Given the description of an element on the screen output the (x, y) to click on. 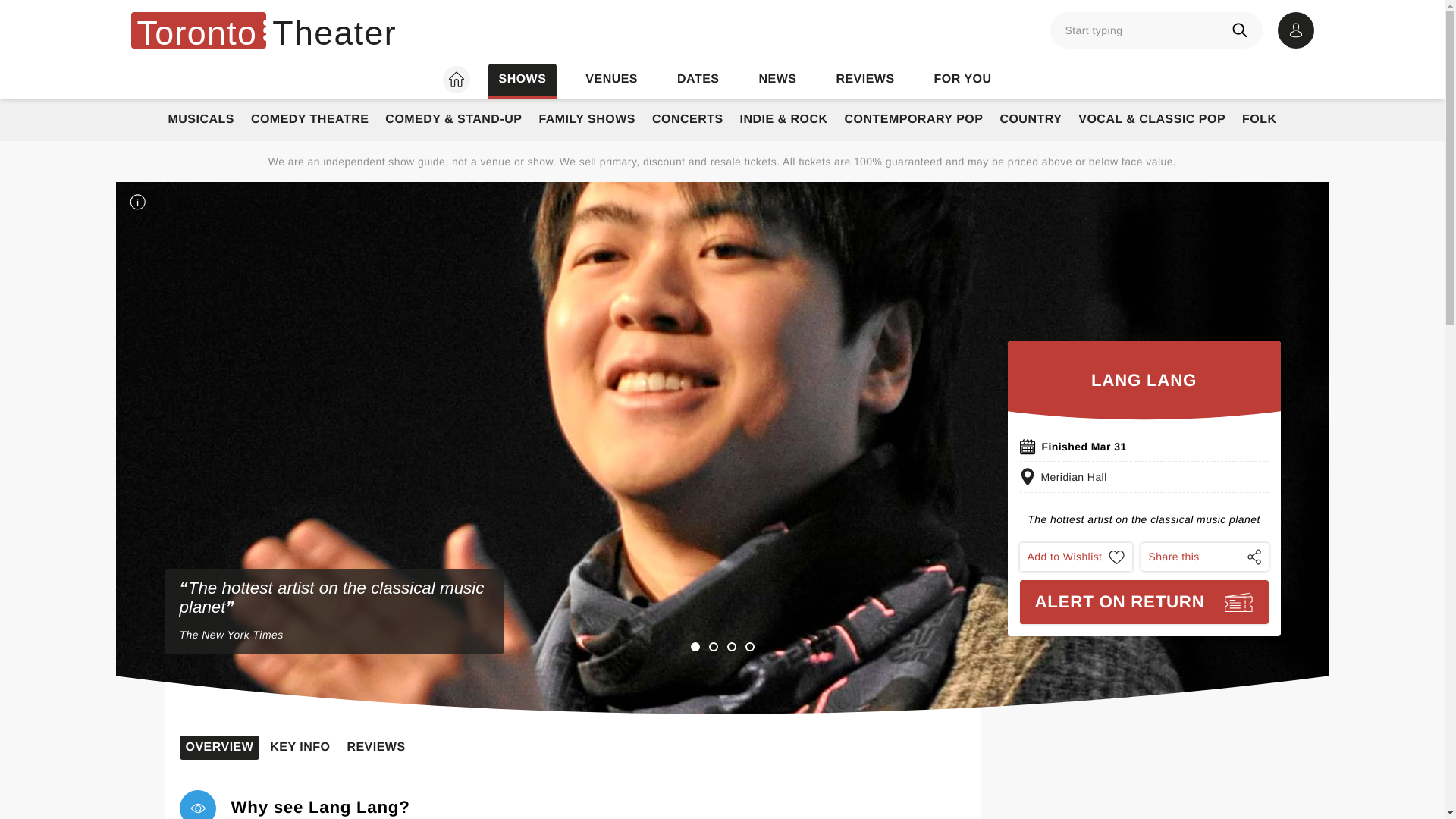
CONCERTS (687, 119)
REVIEWS (864, 80)
Open account options (1294, 30)
VENUES (611, 80)
SHOWS (521, 80)
NEWS (777, 80)
MUSICALS (200, 119)
COMEDY THEATRE (309, 119)
FOR YOU (963, 80)
HOME (455, 79)
